Given the description of an element on the screen output the (x, y) to click on. 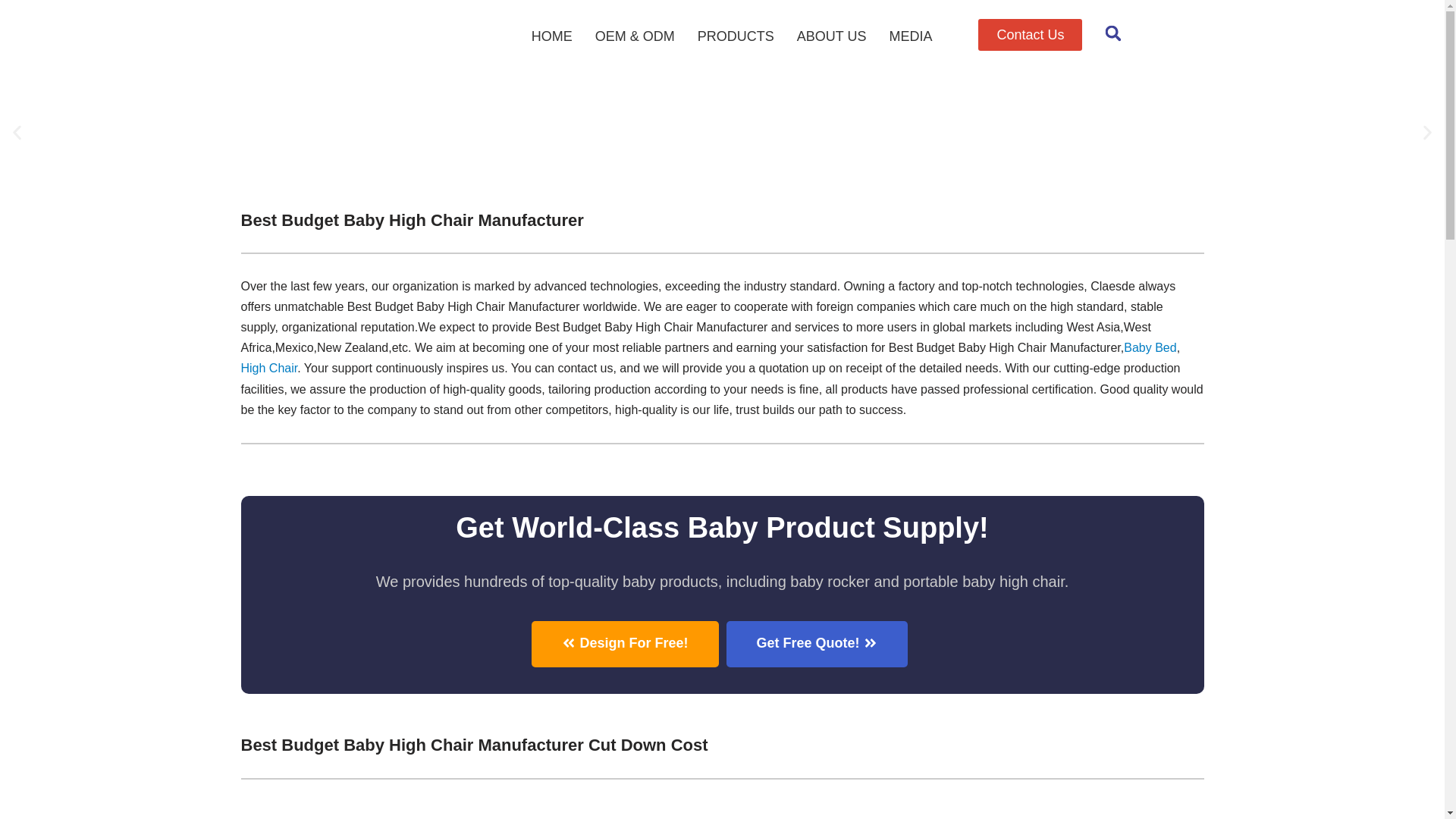
Skip to content (11, 31)
PRODUCTS (735, 36)
HOME (551, 36)
